Given the description of an element on the screen output the (x, y) to click on. 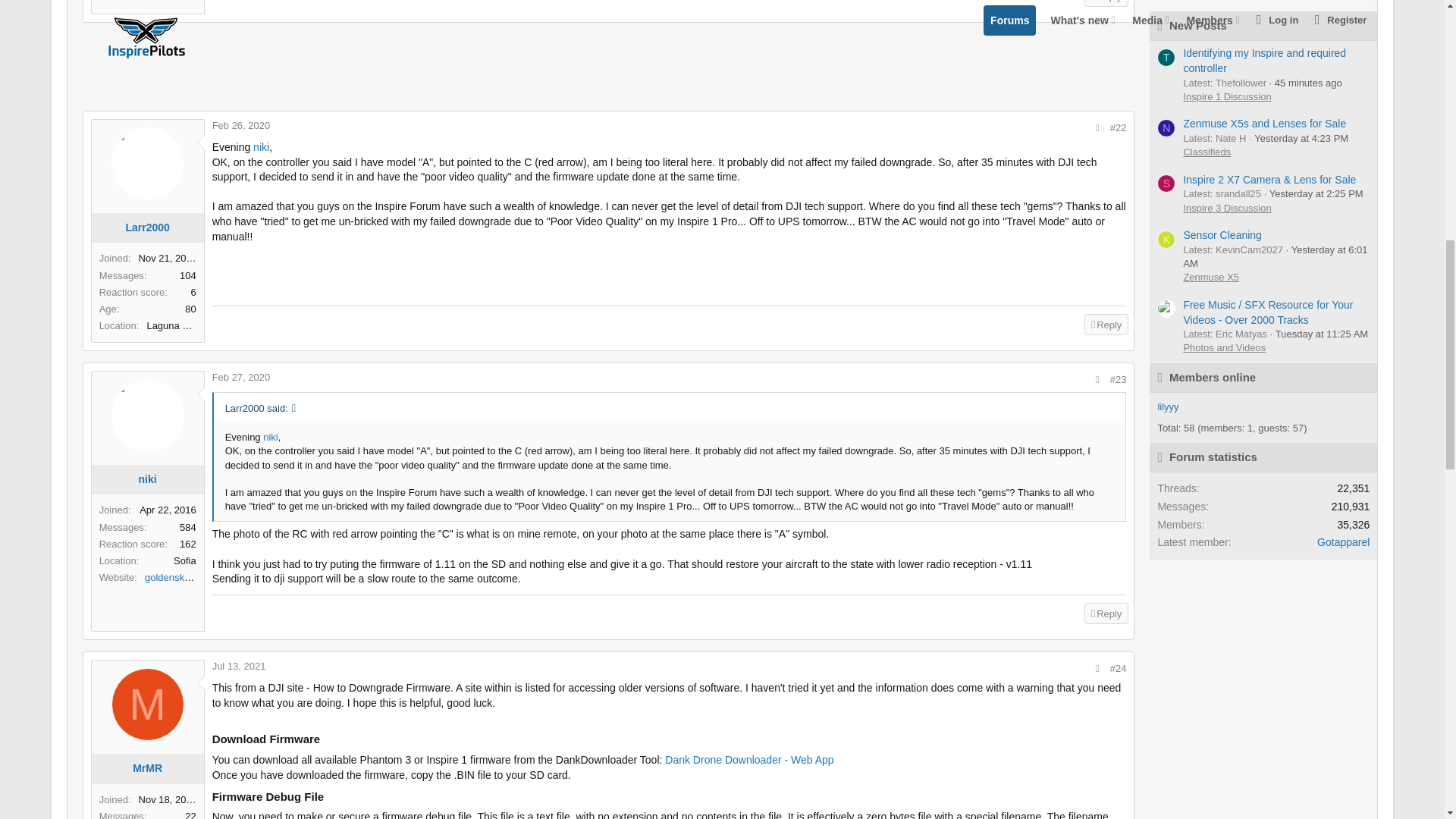
Feb 26, 2020 at 10:38 PM (241, 125)
Laguna Woods, California (171, 325)
Reply, quoting this message (1106, 3)
